Given the description of an element on the screen output the (x, y) to click on. 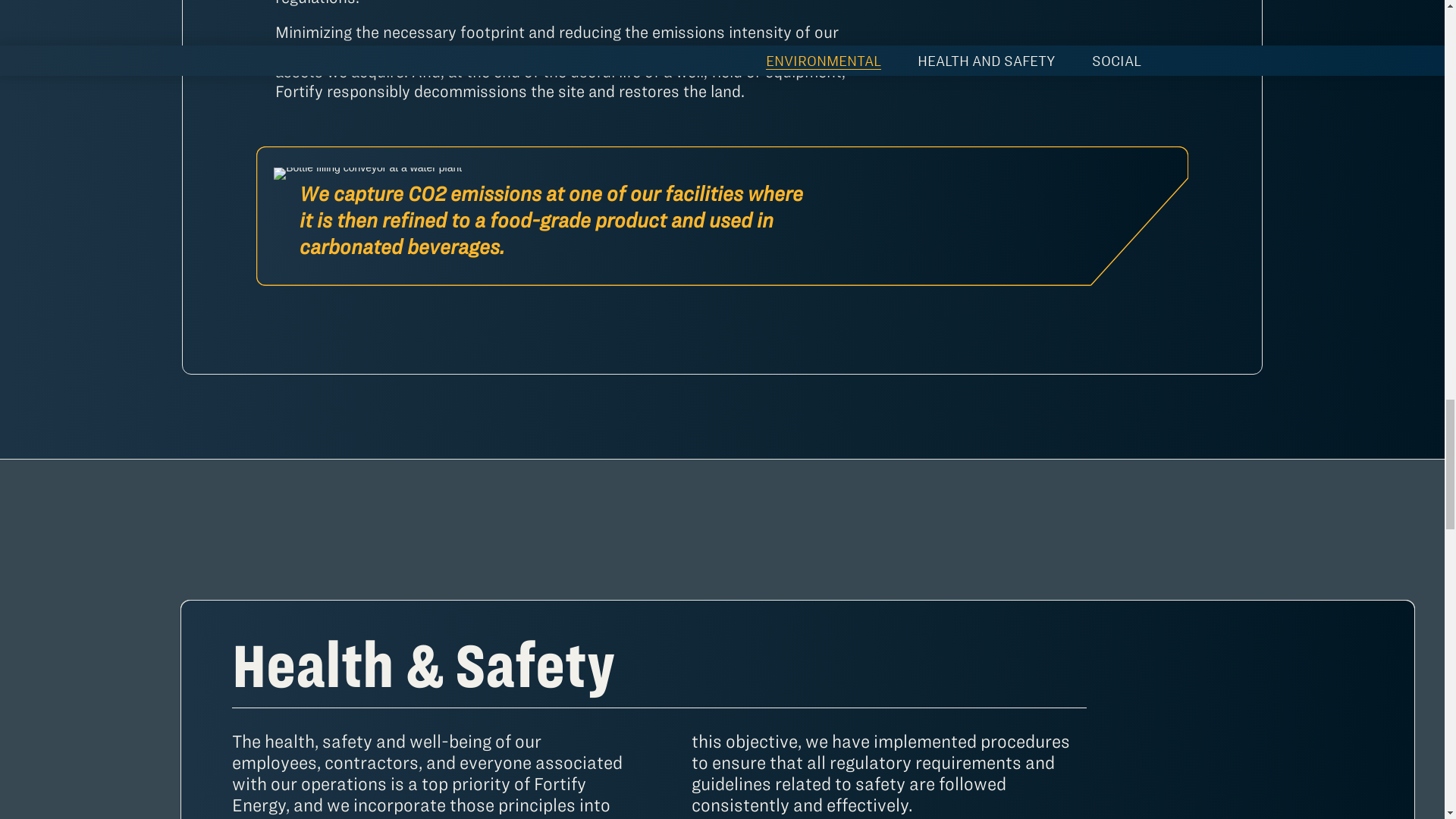
Bottle filling with water (367, 173)
